Given the description of an element on the screen output the (x, y) to click on. 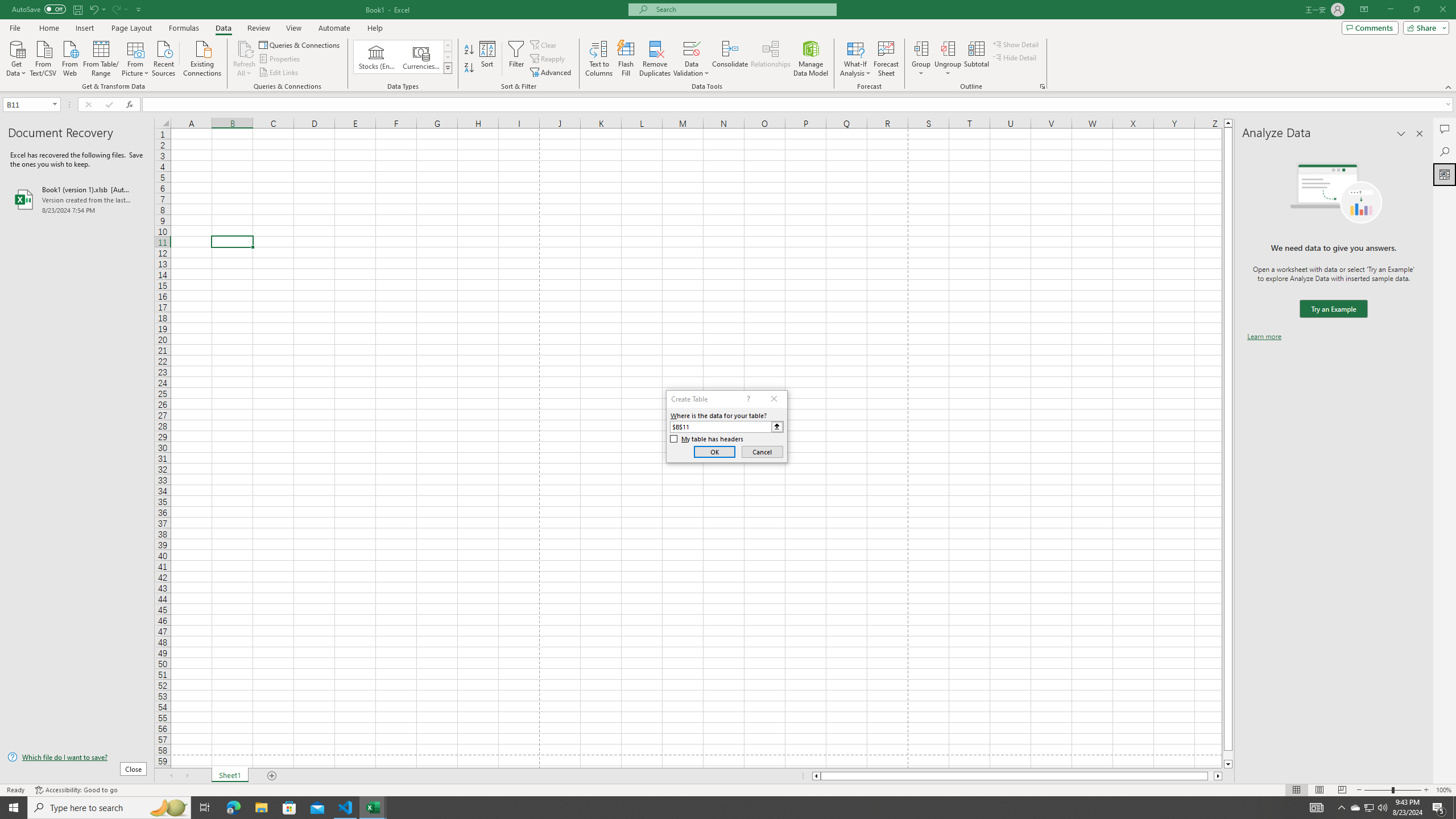
Analyze Data (1444, 173)
Group and Outline Settings (1042, 85)
From Table/Range (100, 57)
From Text/CSV (43, 57)
From Picture (135, 57)
Microsoft search (742, 9)
Book1 (version 1).xlsb  [AutoRecovered] (77, 199)
